Given the description of an element on the screen output the (x, y) to click on. 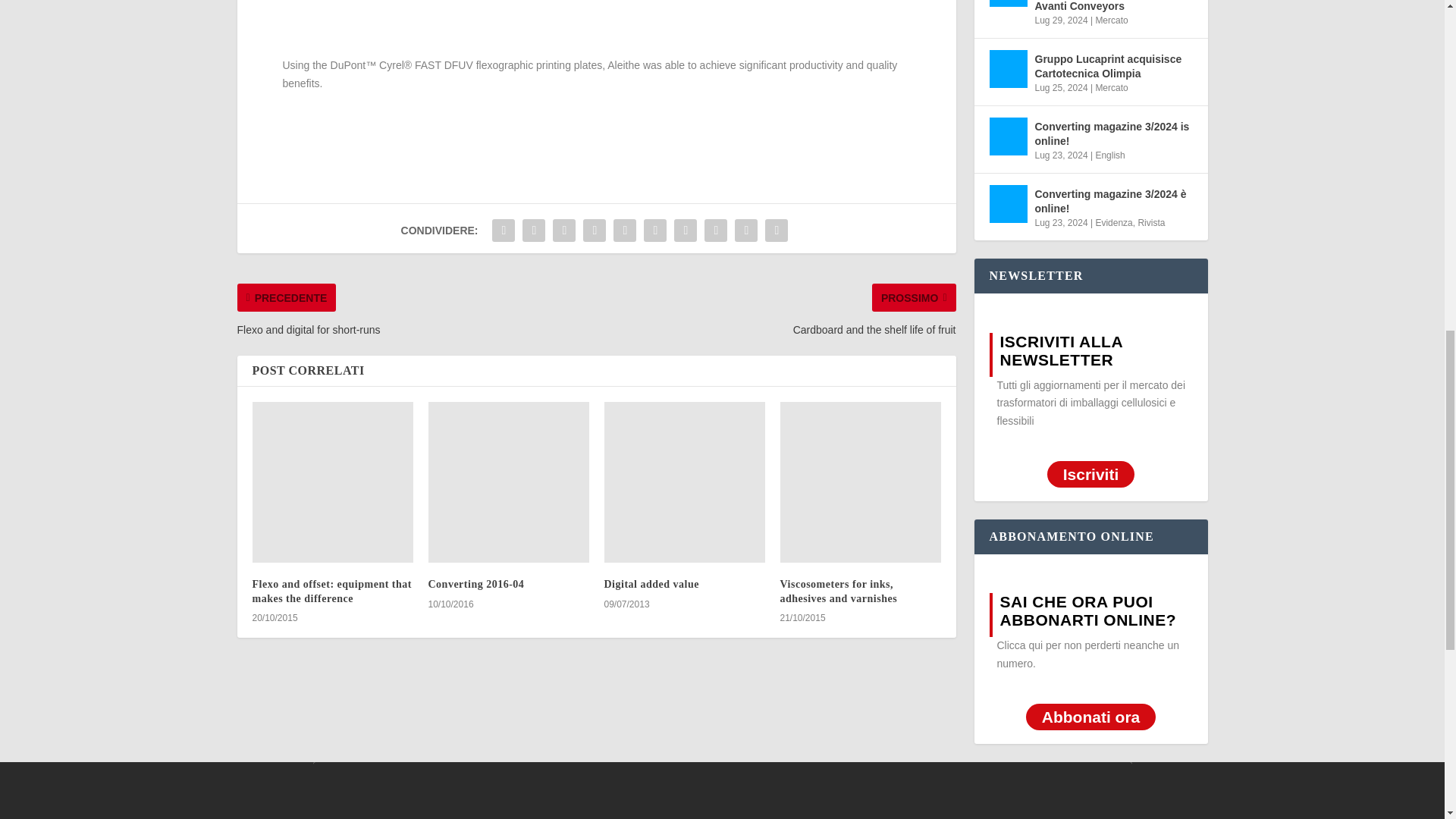
Condividi " New plates " tramite LinkedIn (654, 230)
Condividi " New plates " tramite Pinterest (625, 230)
Condividi " New plates " tramite Tumblr (594, 230)
Condividi " New plates " tramite Stumbleupon (715, 230)
Digital added value (684, 482)
Condividi " New plates " tramite Print (776, 230)
Flexo and offset: equipment that makes the difference (331, 482)
Converting 2016-04 (508, 482)
Condividi " New plates " tramite Twitter (533, 230)
Condividi " New plates " tramite Facebook (502, 230)
Condividi " New plates " tramite Email (745, 230)
Condividi " New plates " tramite Buffer (684, 230)
